Given the description of an element on the screen output the (x, y) to click on. 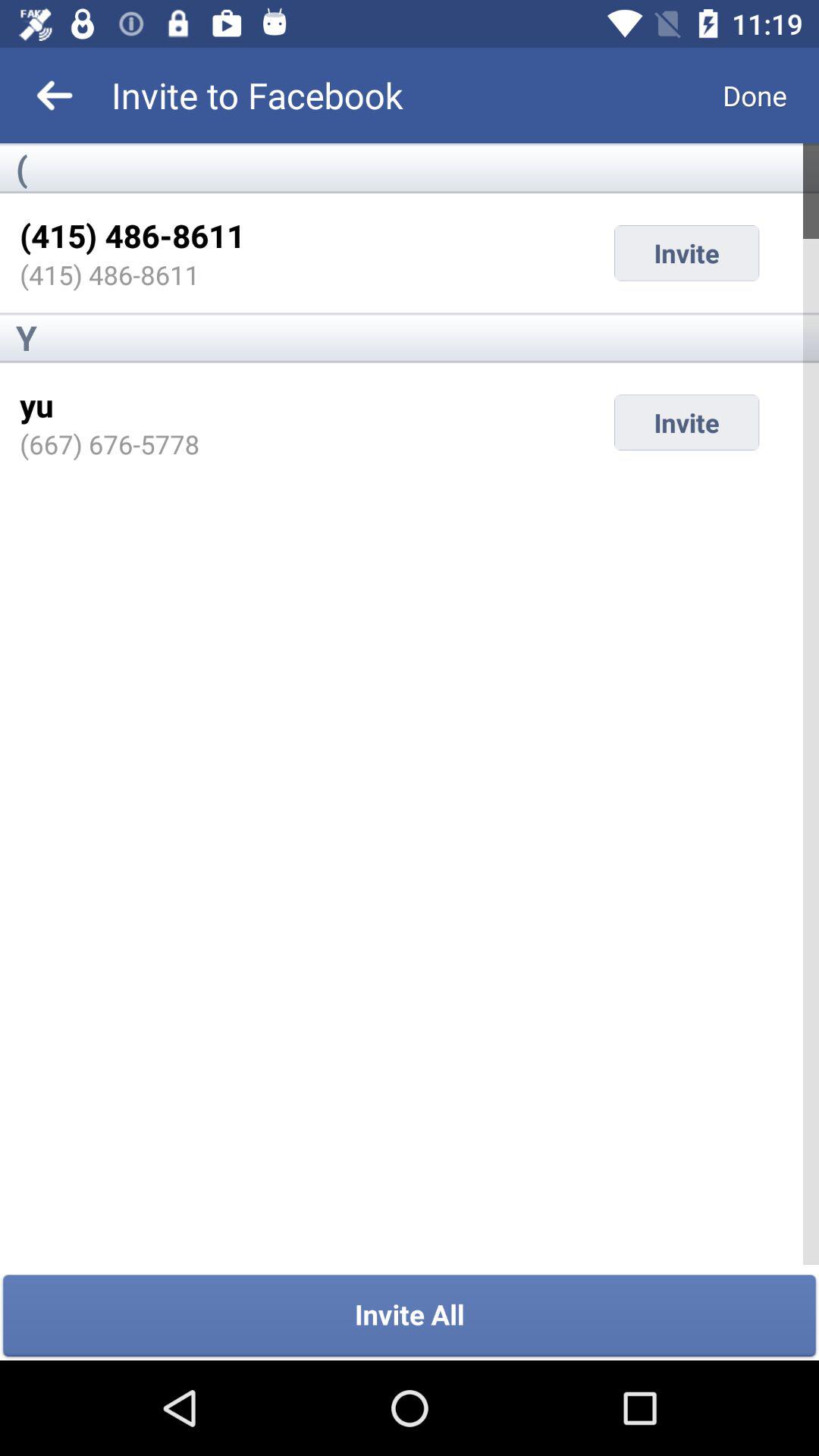
press item to the left of invite icon (36, 404)
